Given the description of an element on the screen output the (x, y) to click on. 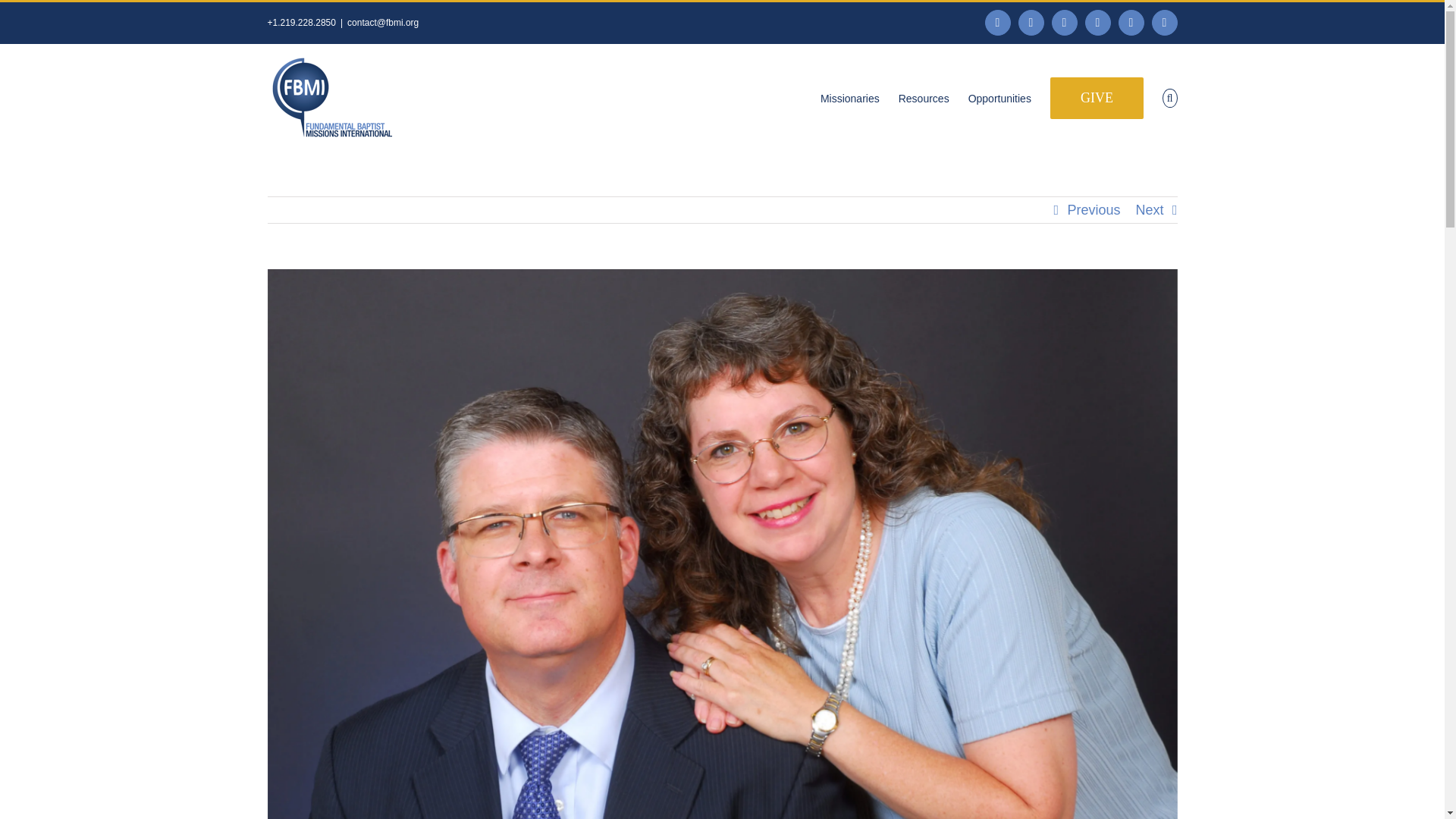
Rss (1097, 22)
X (1030, 22)
LinkedIn (1064, 22)
Rss (1097, 22)
Facebook (997, 22)
Email (1164, 22)
Email (1164, 22)
X (1030, 22)
YouTube (1131, 22)
Facebook (997, 22)
